Given the description of an element on the screen output the (x, y) to click on. 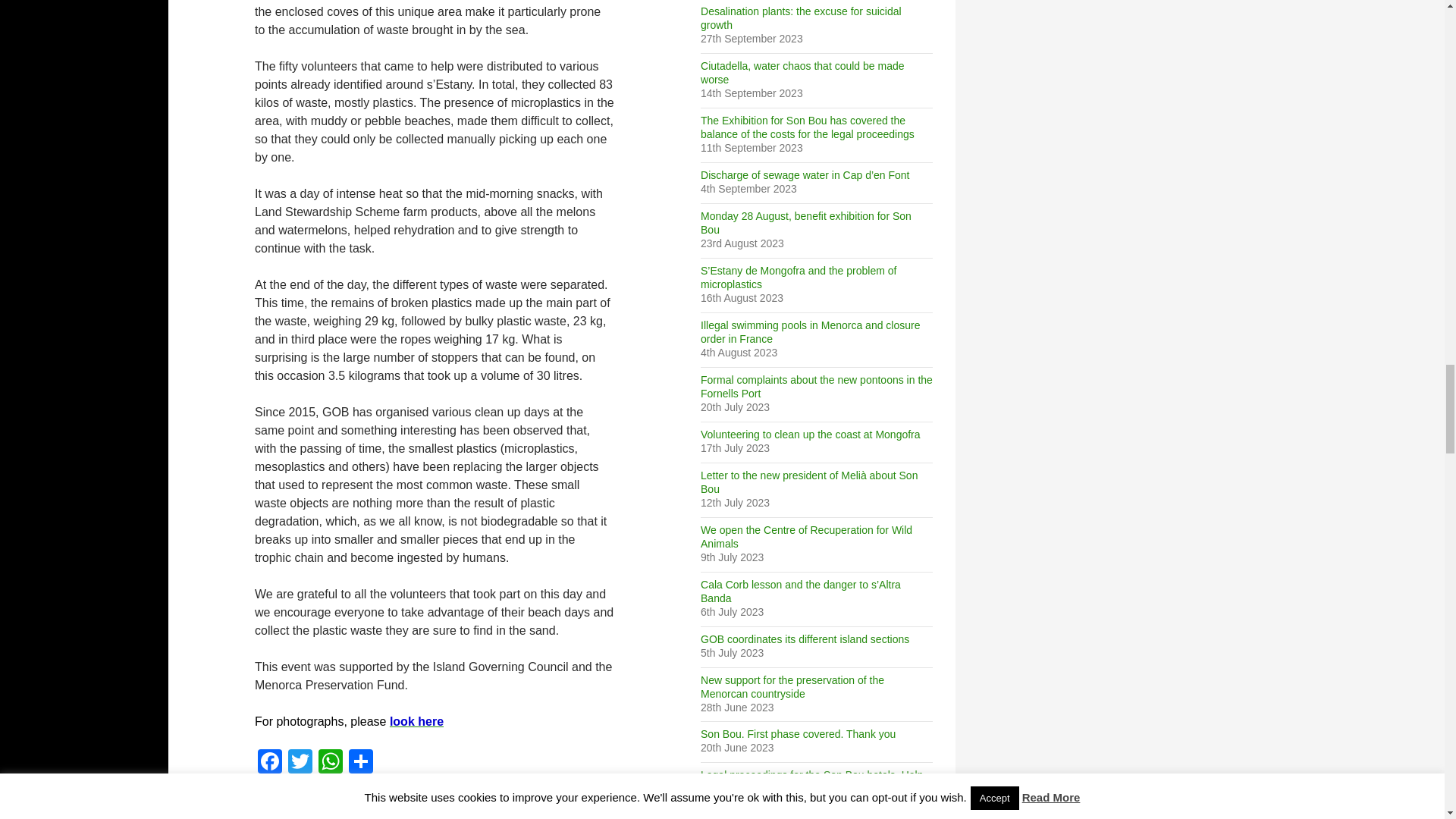
Facebook (269, 763)
Twitter (300, 763)
WhatsApp (330, 763)
